Given the description of an element on the screen output the (x, y) to click on. 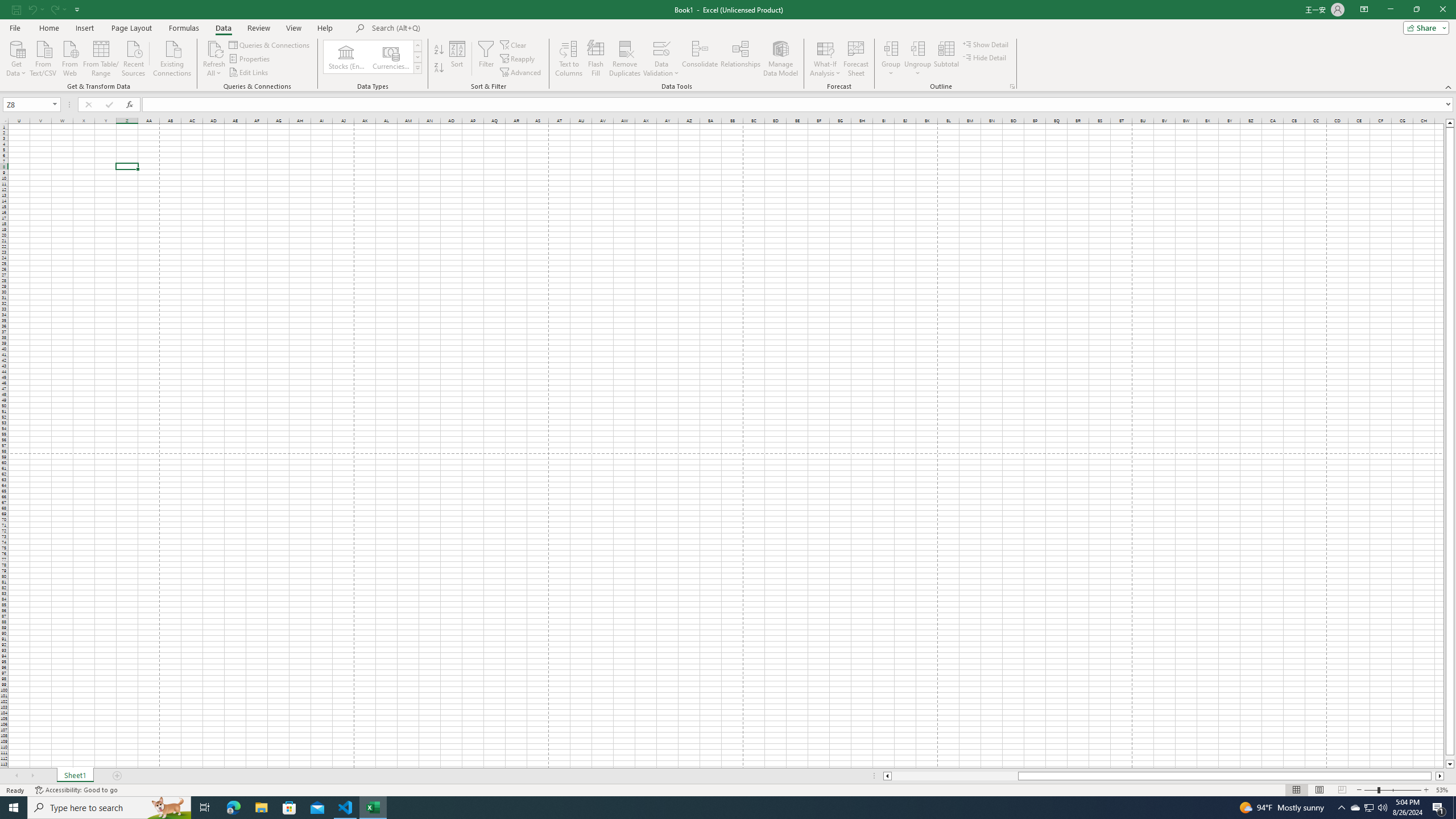
Sort... (456, 58)
Properties (250, 58)
Class: MsoCommandBar (728, 45)
Data Types (417, 67)
Show Detail (985, 44)
Currencies (English) (390, 56)
Manage Data Model (780, 58)
What-If Analysis (825, 58)
